Given the description of an element on the screen output the (x, y) to click on. 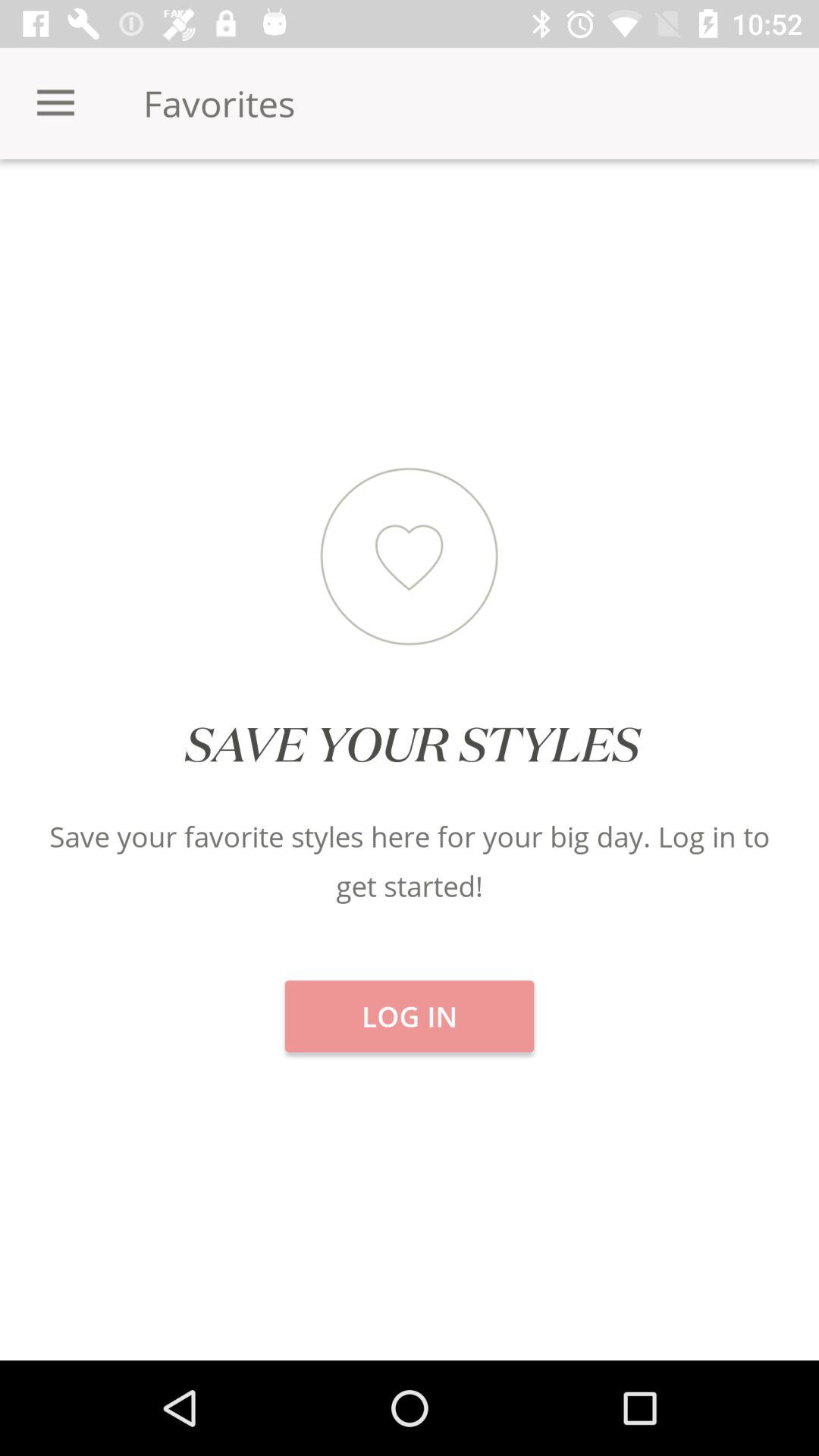
select icon next to brands icon (409, 212)
